Given the description of an element on the screen output the (x, y) to click on. 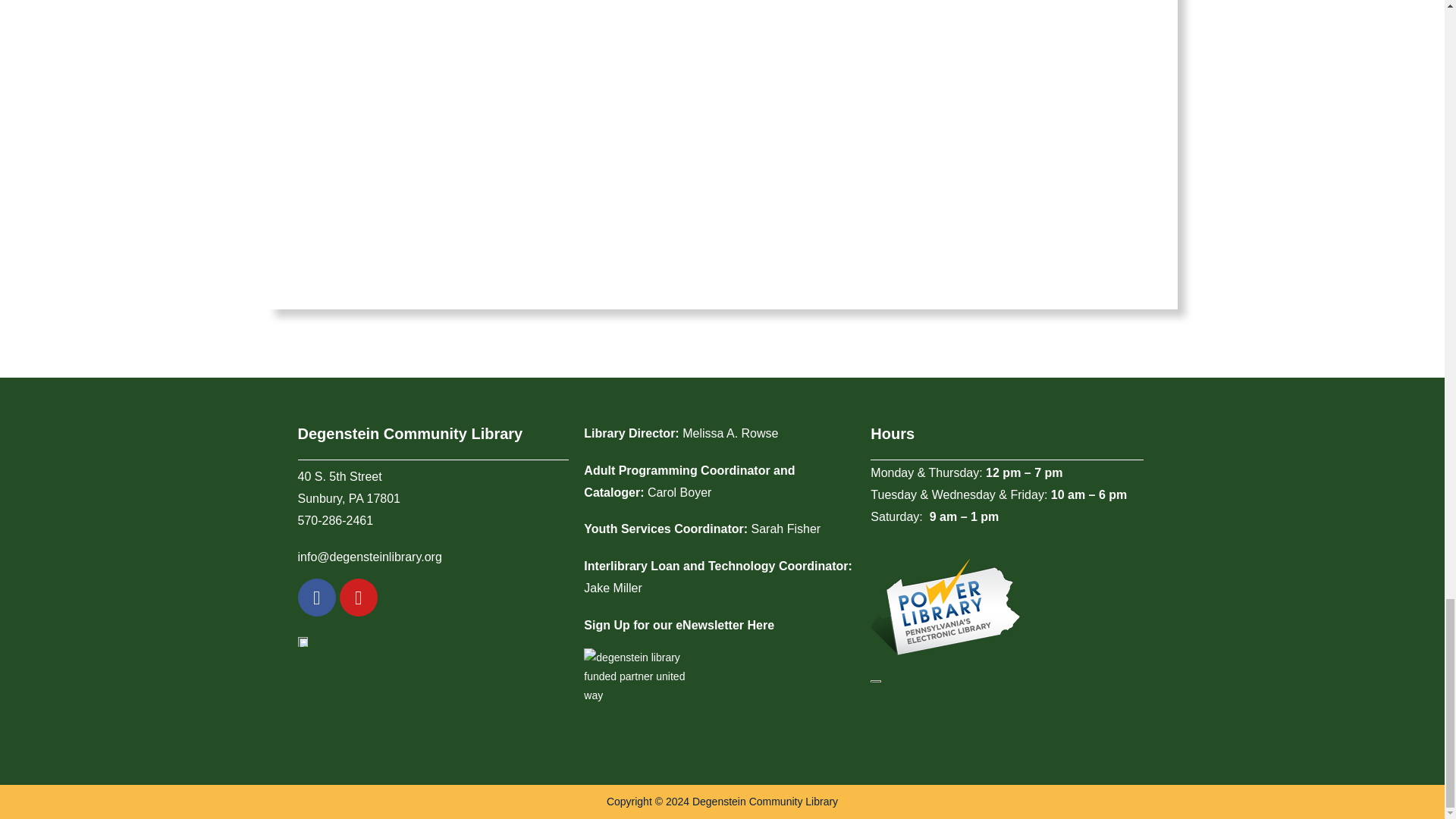
Melissa A. Rowse (729, 432)
Carol Boyer (679, 492)
Jake Miller (612, 587)
Sarah Fisher (786, 528)
Sign Up for our eNewsletter Here (678, 625)
